Given the description of an element on the screen output the (x, y) to click on. 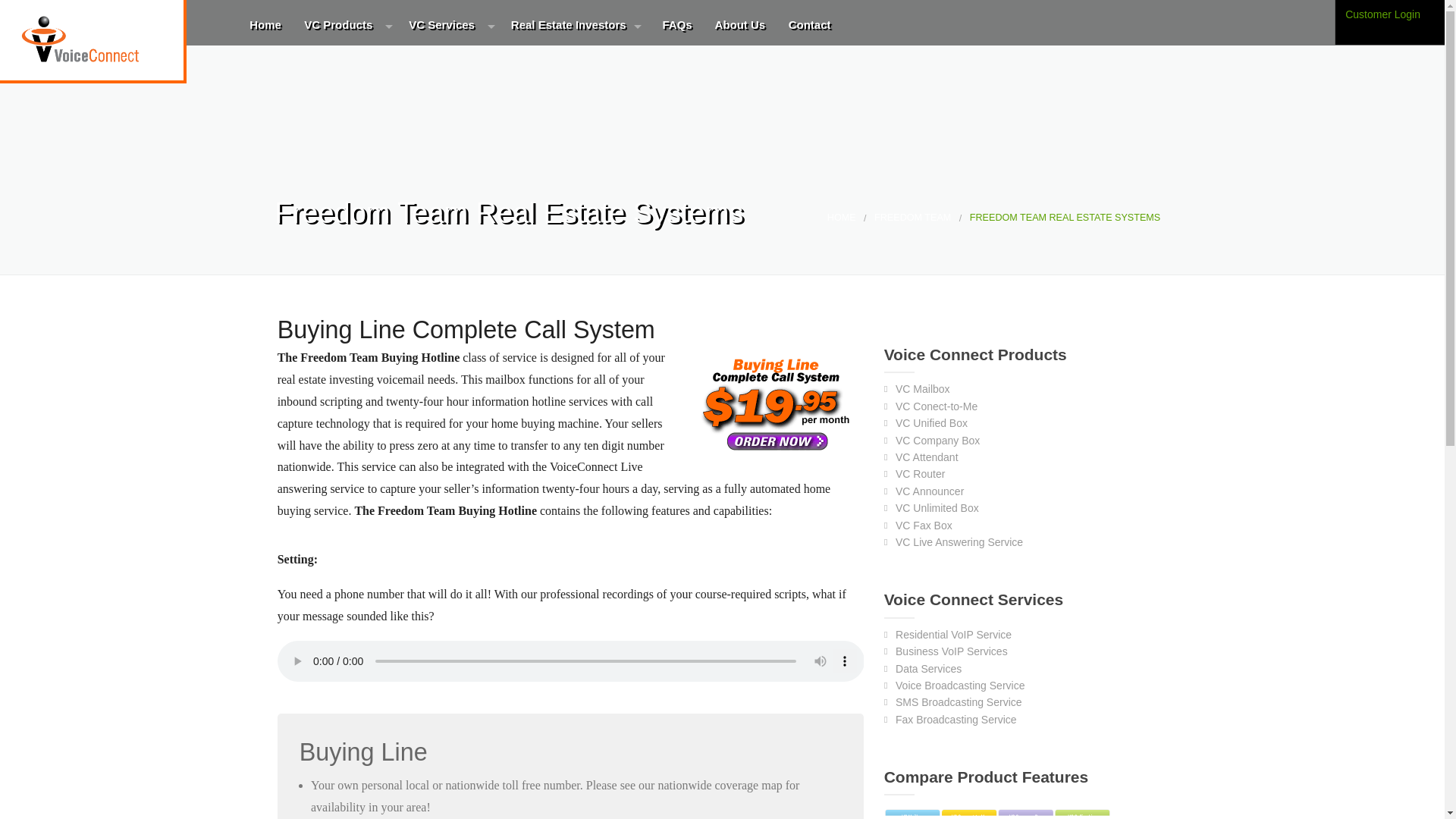
Fax Broadcasting Service (456, 237)
SMS Broadcasting Service (456, 203)
VC Live Answering Service (351, 374)
Voice Broadcasting Service (456, 169)
VC Foreclosure Line (558, 100)
Home (263, 27)
Residential VoIP Service (456, 66)
VC Attendant (351, 203)
VC Mailbox (922, 388)
Data Services (456, 135)
Real Estate Investors (573, 27)
FREEDOM TEAM (912, 217)
VC Selling Line (558, 135)
VC Mailbox (351, 66)
VC Unified Box (351, 135)
